Given the description of an element on the screen output the (x, y) to click on. 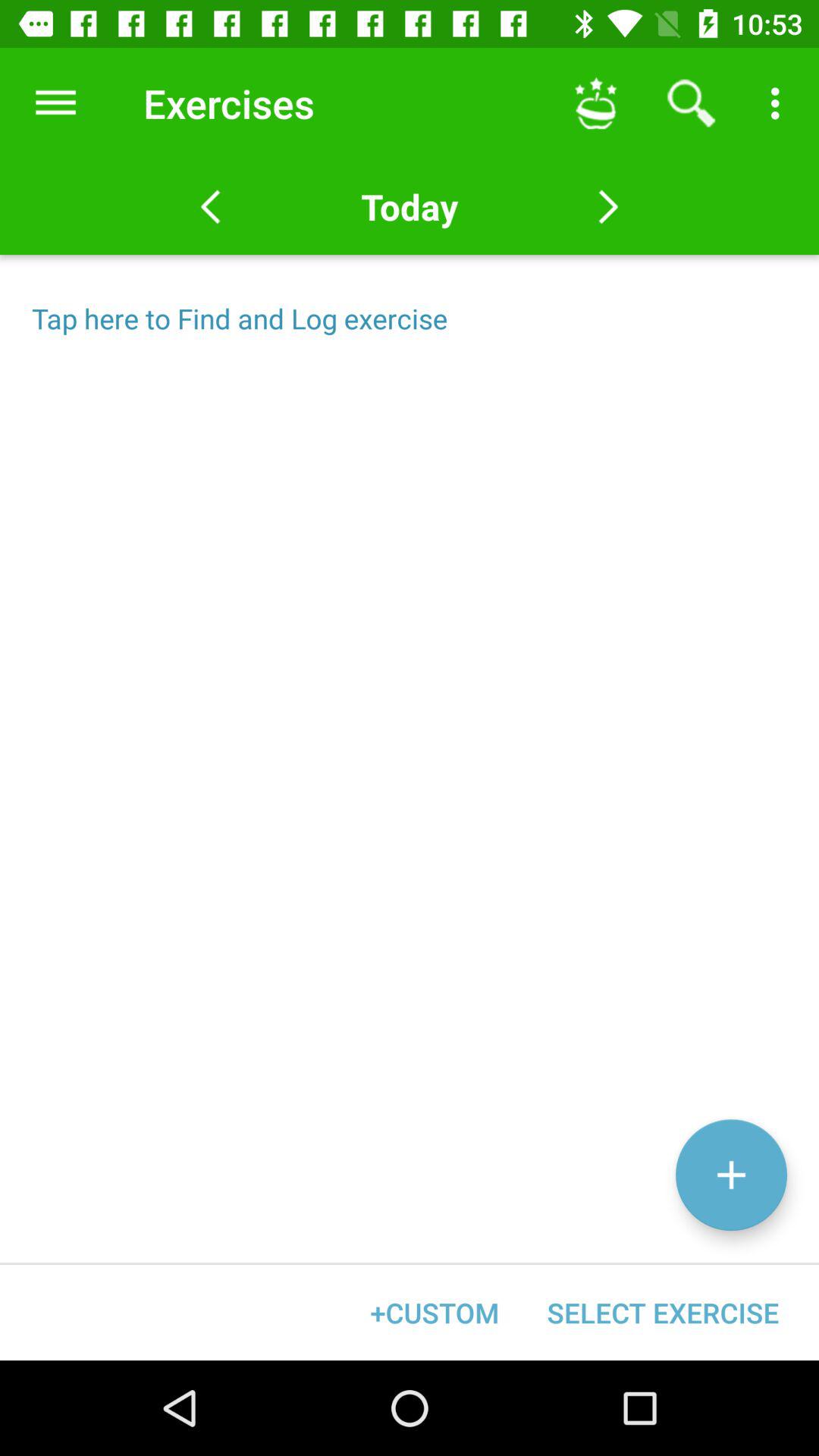
click icon to the right of the exercises icon (595, 103)
